Given the description of an element on the screen output the (x, y) to click on. 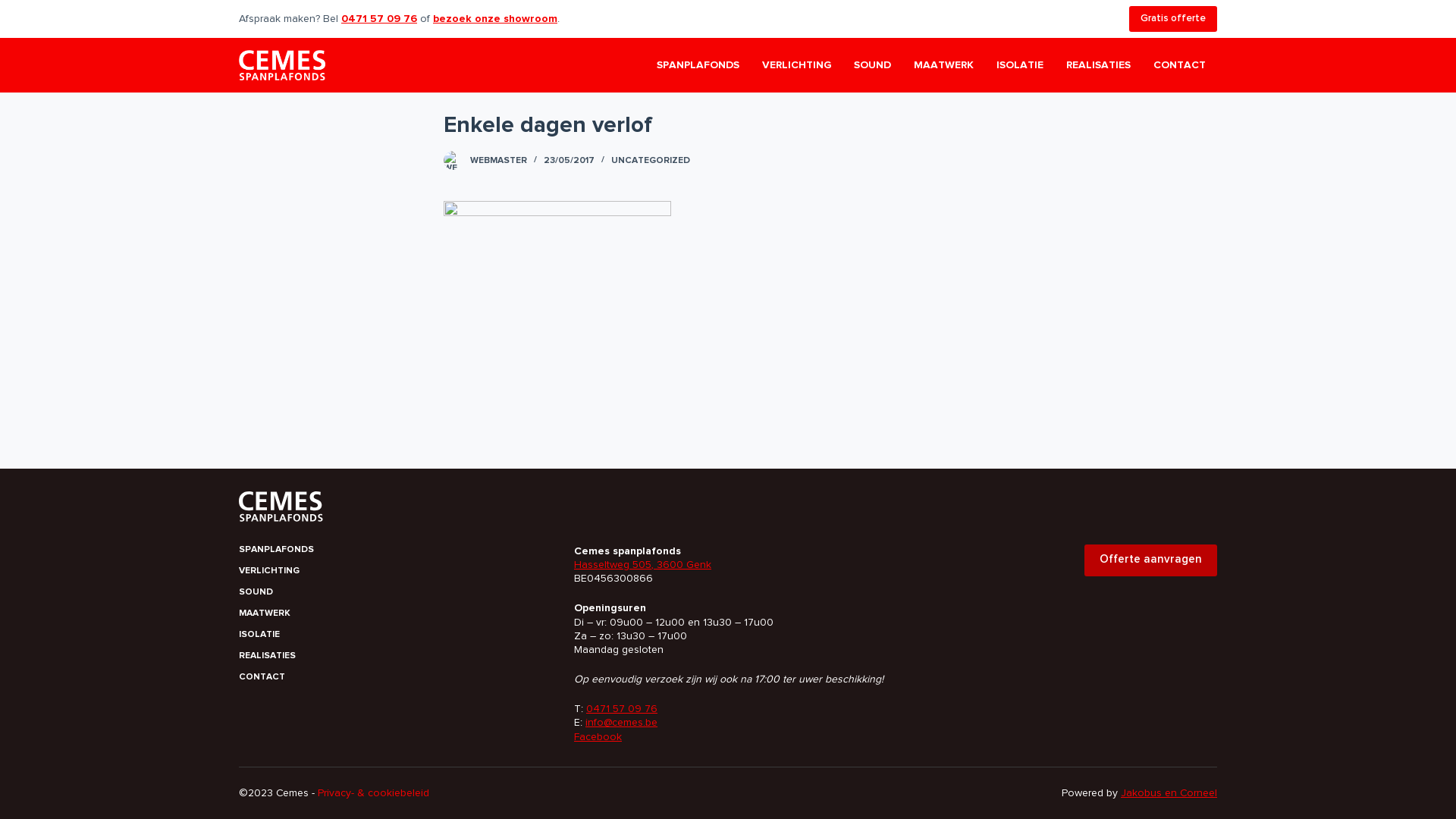
MAATWERK Element type: text (943, 65)
SOUND Element type: text (872, 65)
REALISATIES Element type: text (1098, 65)
ISOLATIE Element type: text (1019, 65)
Doorgaan naar artikel Element type: text (15, 7)
CONTACT Element type: text (1179, 65)
VERLICHTING Element type: text (796, 65)
SPANPLAFONDS Element type: text (393, 550)
VERLICHTING Element type: text (393, 571)
MAATWERK Element type: text (393, 614)
CONTACT Element type: text (393, 677)
REALISATIES Element type: text (393, 656)
info@cemes.be Element type: text (621, 722)
Jakobus en Corneel Element type: text (1168, 792)
Offerte aanvragen Element type: text (1150, 560)
0471 57 09 76 Element type: text (621, 708)
SPANPLAFONDS Element type: text (697, 65)
bezoek onze showroom Element type: text (495, 18)
SOUND Element type: text (393, 592)
Gratis offerte Element type: text (1173, 18)
WEBMASTER Element type: text (498, 160)
UNCATEGORIZED Element type: text (650, 160)
Hasseltweg 505, 3600 Genk Element type: text (642, 564)
ISOLATIE Element type: text (393, 635)
Facebook Element type: text (597, 736)
0471 57 09 76 Element type: text (379, 18)
Privacy- & cookiebeleid Element type: text (373, 792)
